Given the description of an element on the screen output the (x, y) to click on. 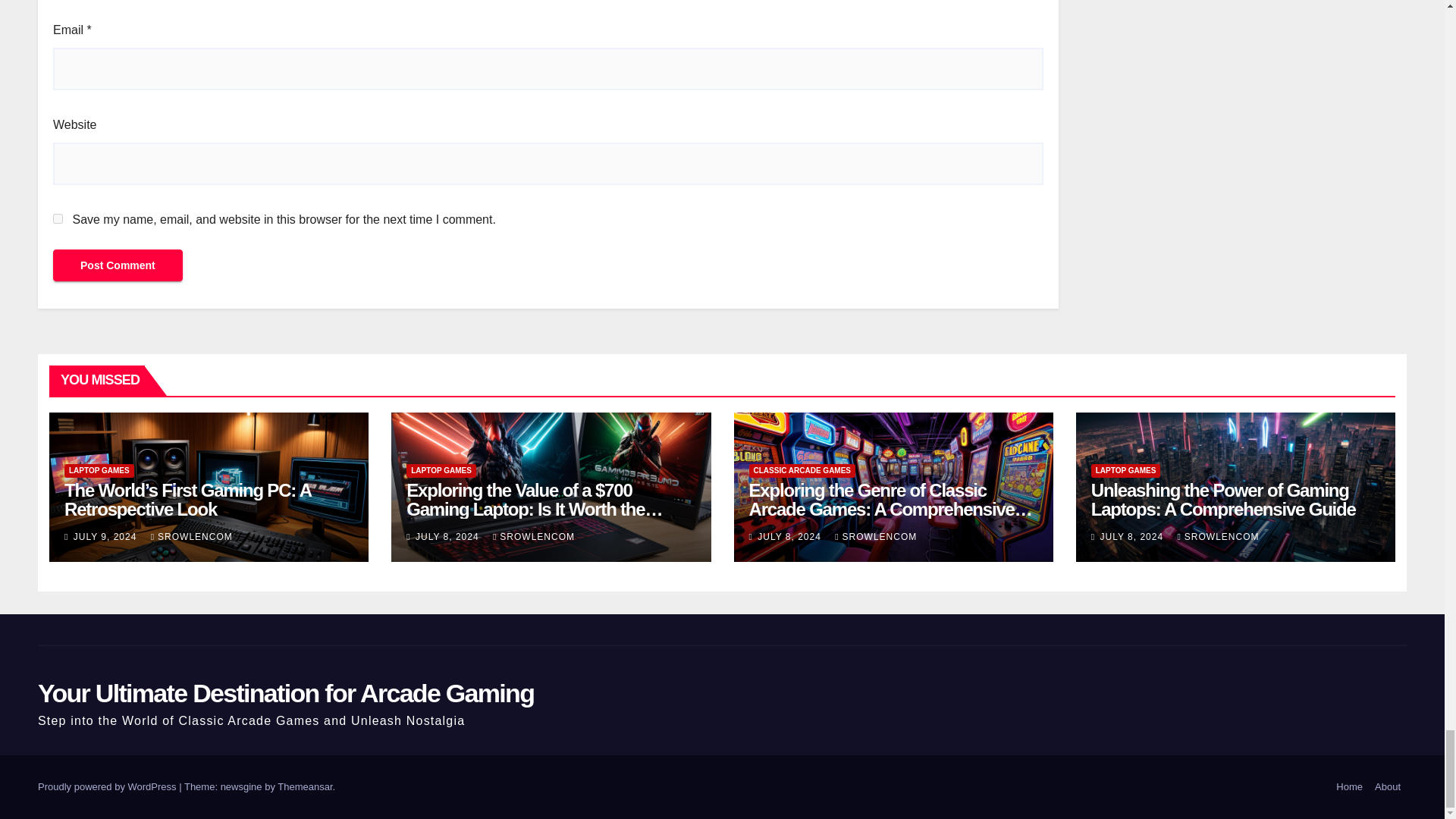
Post Comment (117, 265)
yes (57, 218)
